Given the description of an element on the screen output the (x, y) to click on. 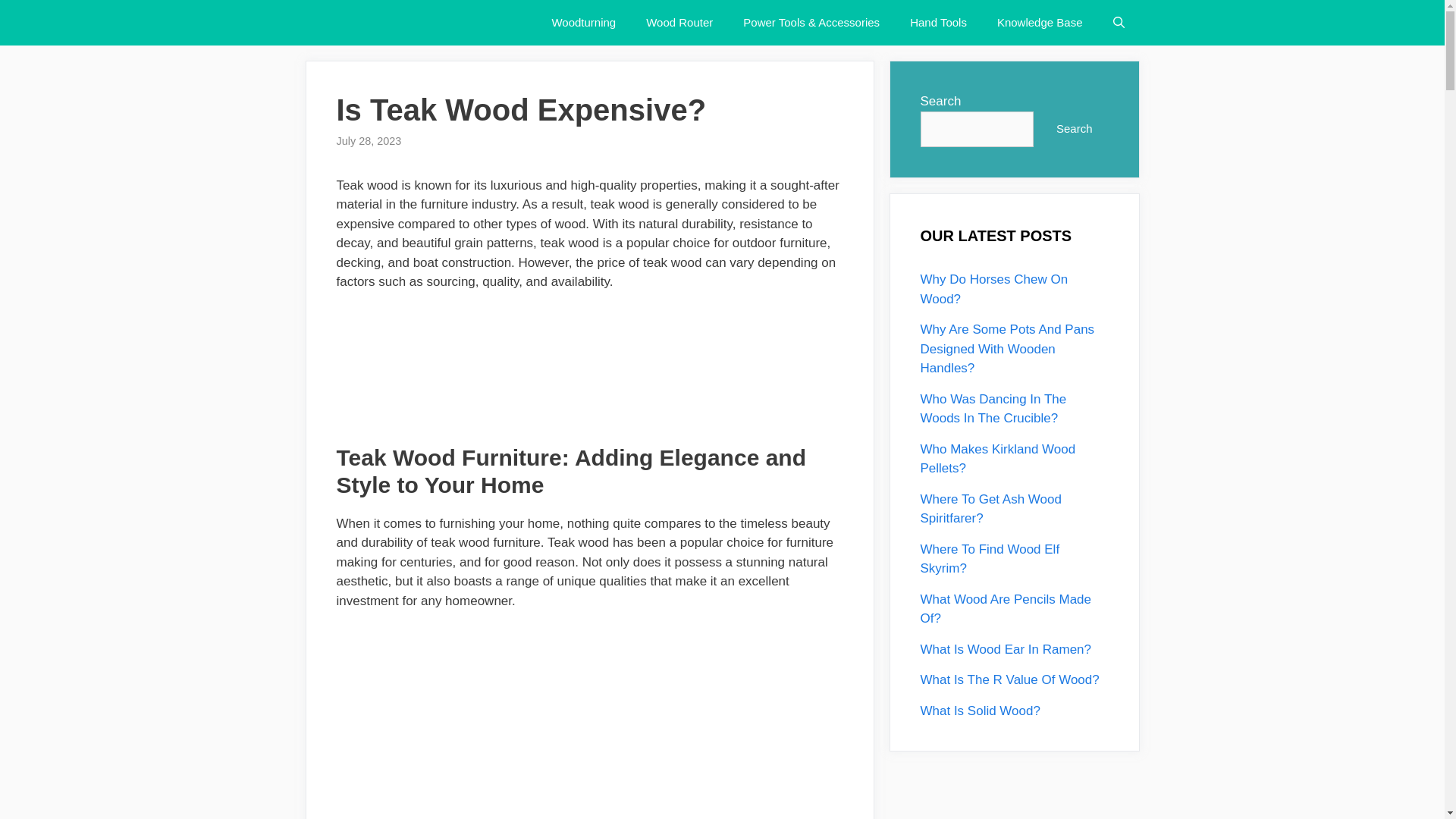
Why Are Some Pots And Pans Designed With Wooden Handles? (1007, 348)
What Is Wood Ear In Ramen? (1006, 648)
Search (1074, 128)
What Is The R Value Of Wood? (1009, 679)
What Is Solid Wood? (980, 710)
Why Do Horses Chew On Wood? (994, 288)
Hand Tools (938, 22)
Tools Voice (380, 22)
Wood Router (679, 22)
Where To Get Ash Wood Spiritfarer? (990, 508)
